Given the description of an element on the screen output the (x, y) to click on. 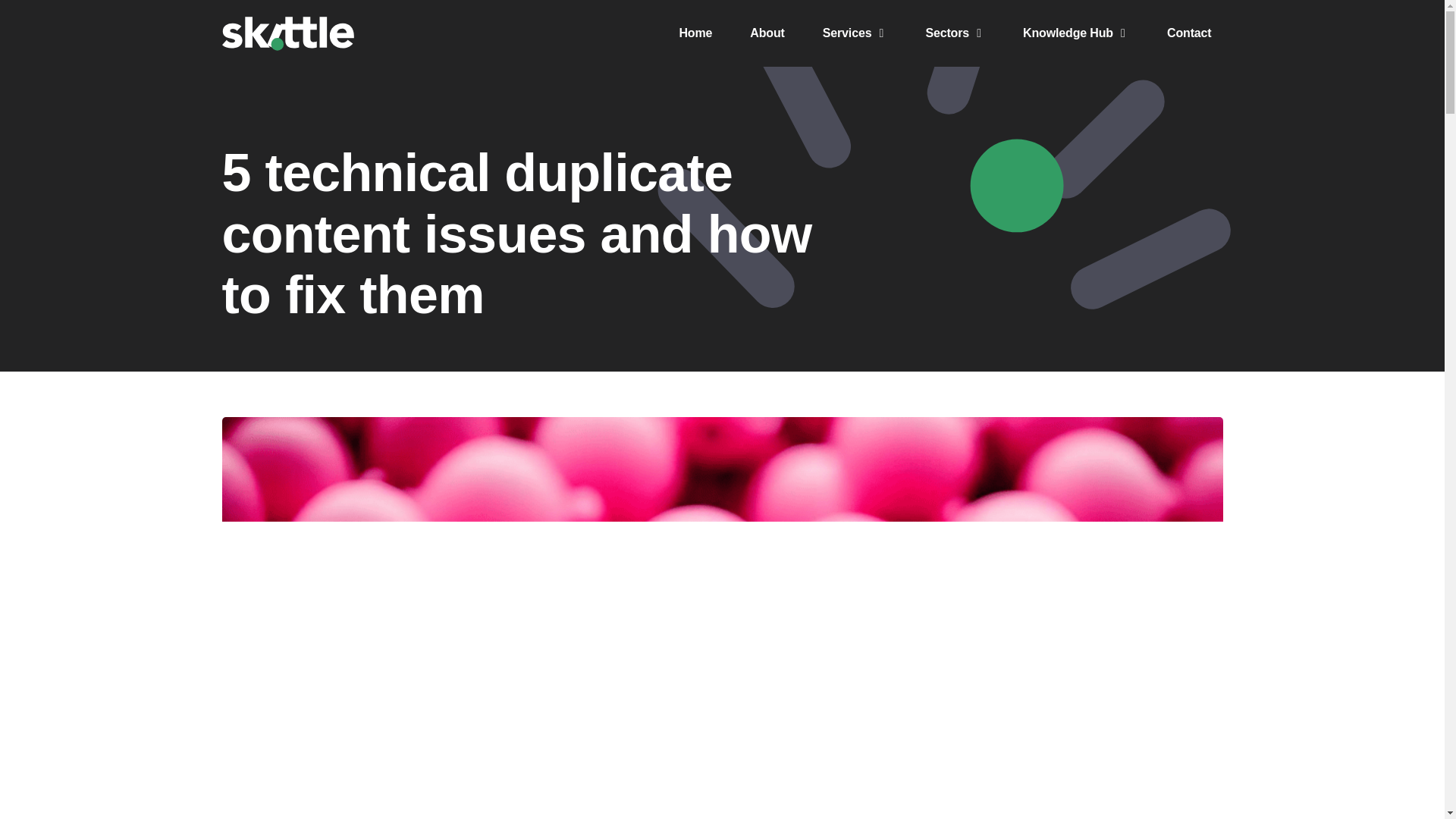
Services (847, 32)
Sectors (946, 32)
About (766, 32)
Contact (1189, 32)
Home (694, 32)
